Given the description of an element on the screen output the (x, y) to click on. 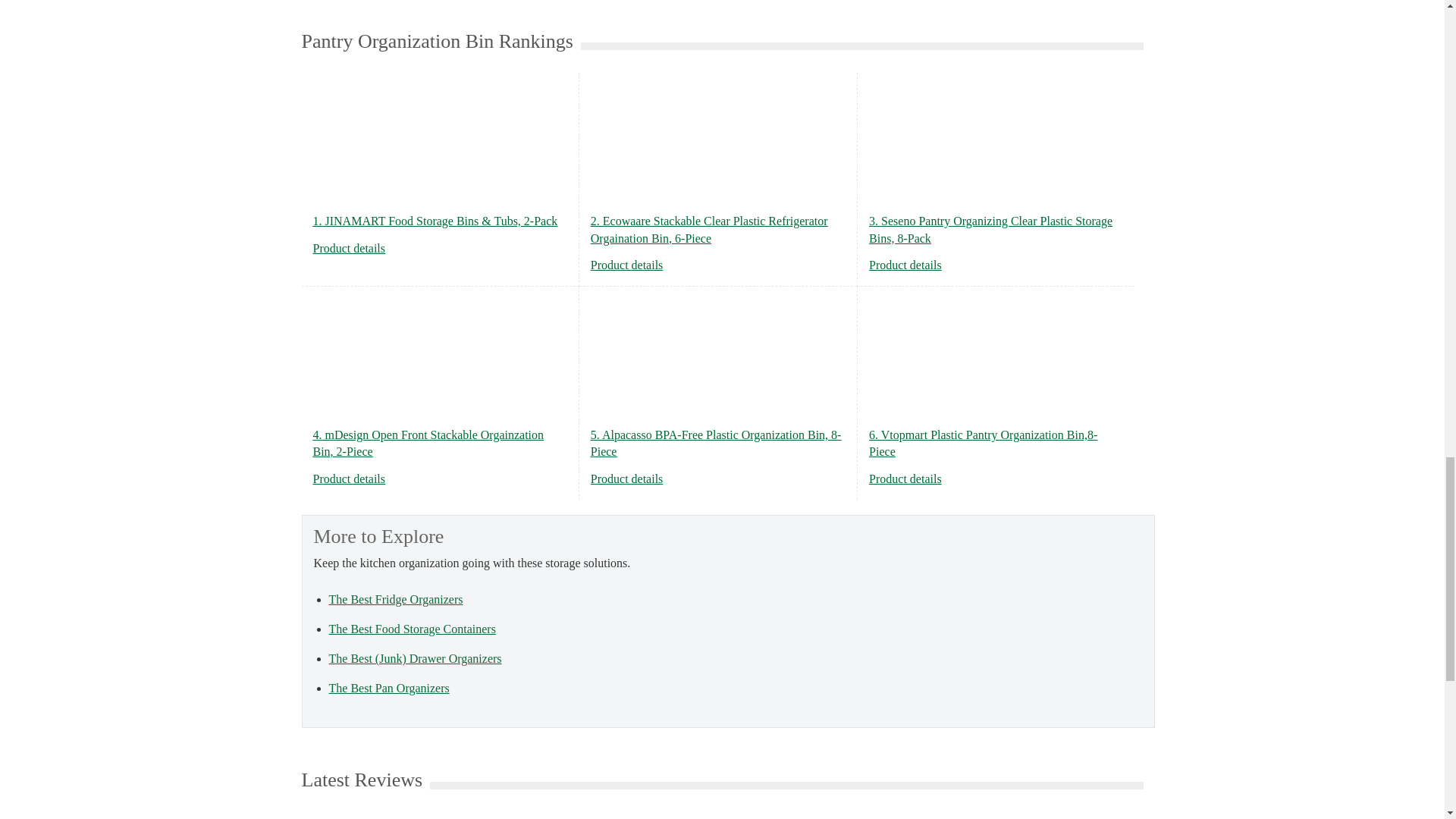
Alpacasso BPA-Free Plastic Organization Bin, 8-Piece (627, 478)
Vtopmart Plastic Pantry Organization Bin,8-Piece (905, 478)
mDesign Open Front Stackable Orgainzation Bin, 2-Piece (349, 478)
Seseno Pantry Organizing Clear Plastic Storage Bins, 8-Pack (905, 264)
